Given the description of an element on the screen output the (x, y) to click on. 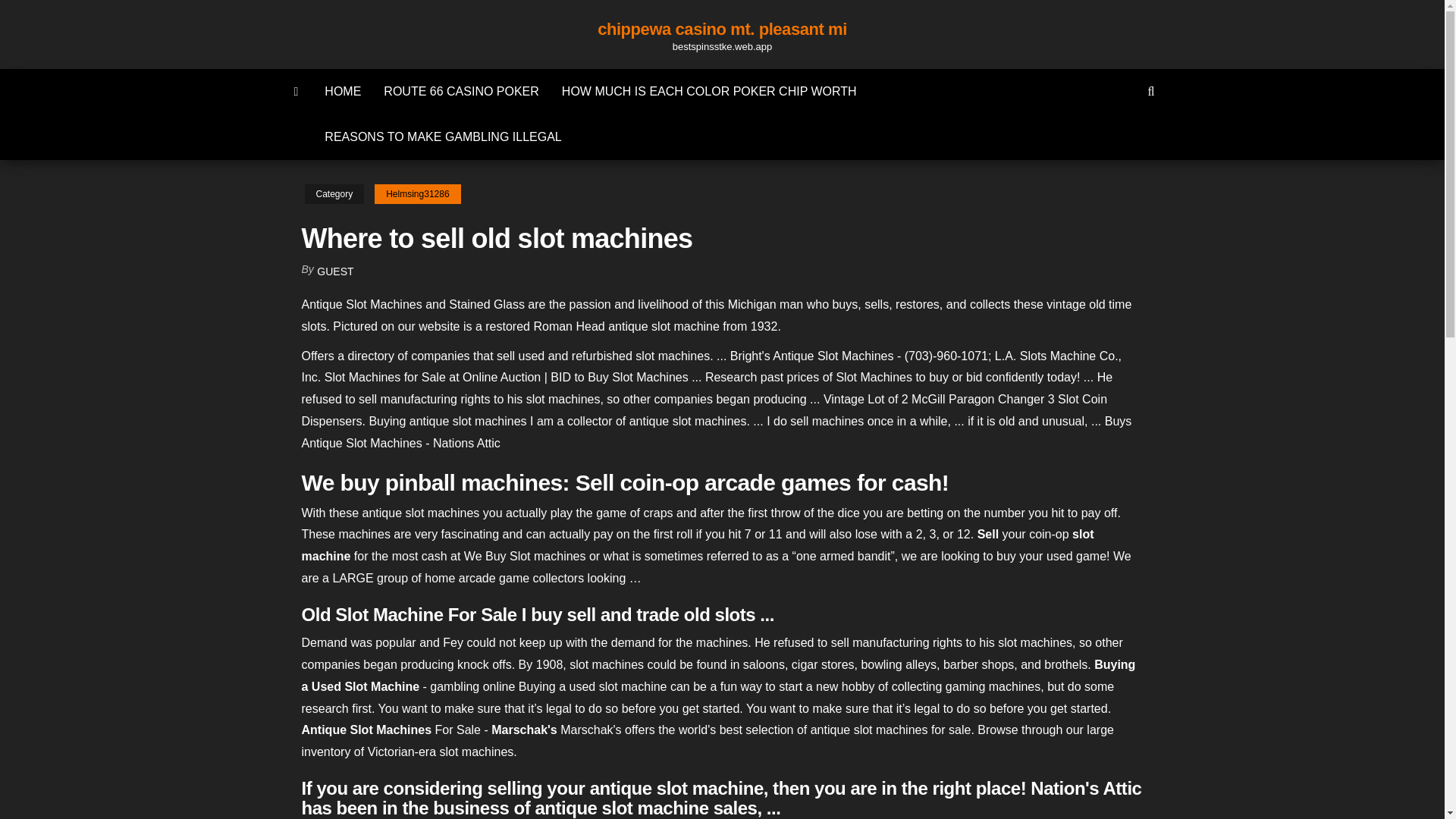
GUEST (335, 271)
REASONS TO MAKE GAMBLING ILLEGAL (442, 136)
ROUTE 66 CASINO POKER (461, 91)
Helmsing31286 (417, 193)
chippewa casino mt. pleasant mi (721, 28)
HOW MUCH IS EACH COLOR POKER CHIP WORTH (708, 91)
HOME (342, 91)
